Given the description of an element on the screen output the (x, y) to click on. 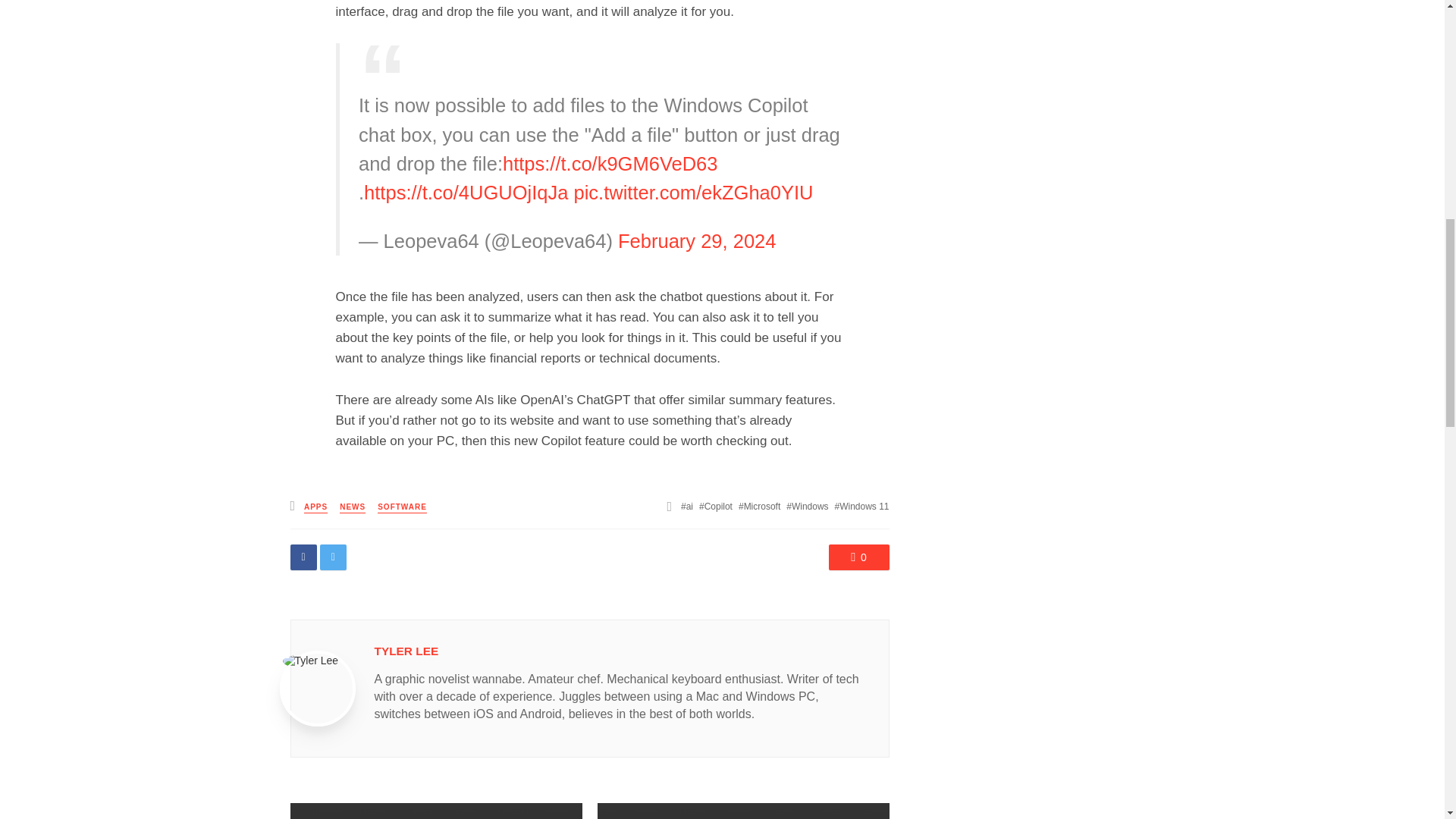
SOFTWARE (401, 507)
ai (687, 506)
February 29, 2024 (696, 240)
Share on Facebook (302, 557)
NEWS (352, 507)
Posts by Tyler Lee (406, 650)
APPS (315, 507)
Share on Twitter (333, 557)
0 Comments (858, 557)
